Given the description of an element on the screen output the (x, y) to click on. 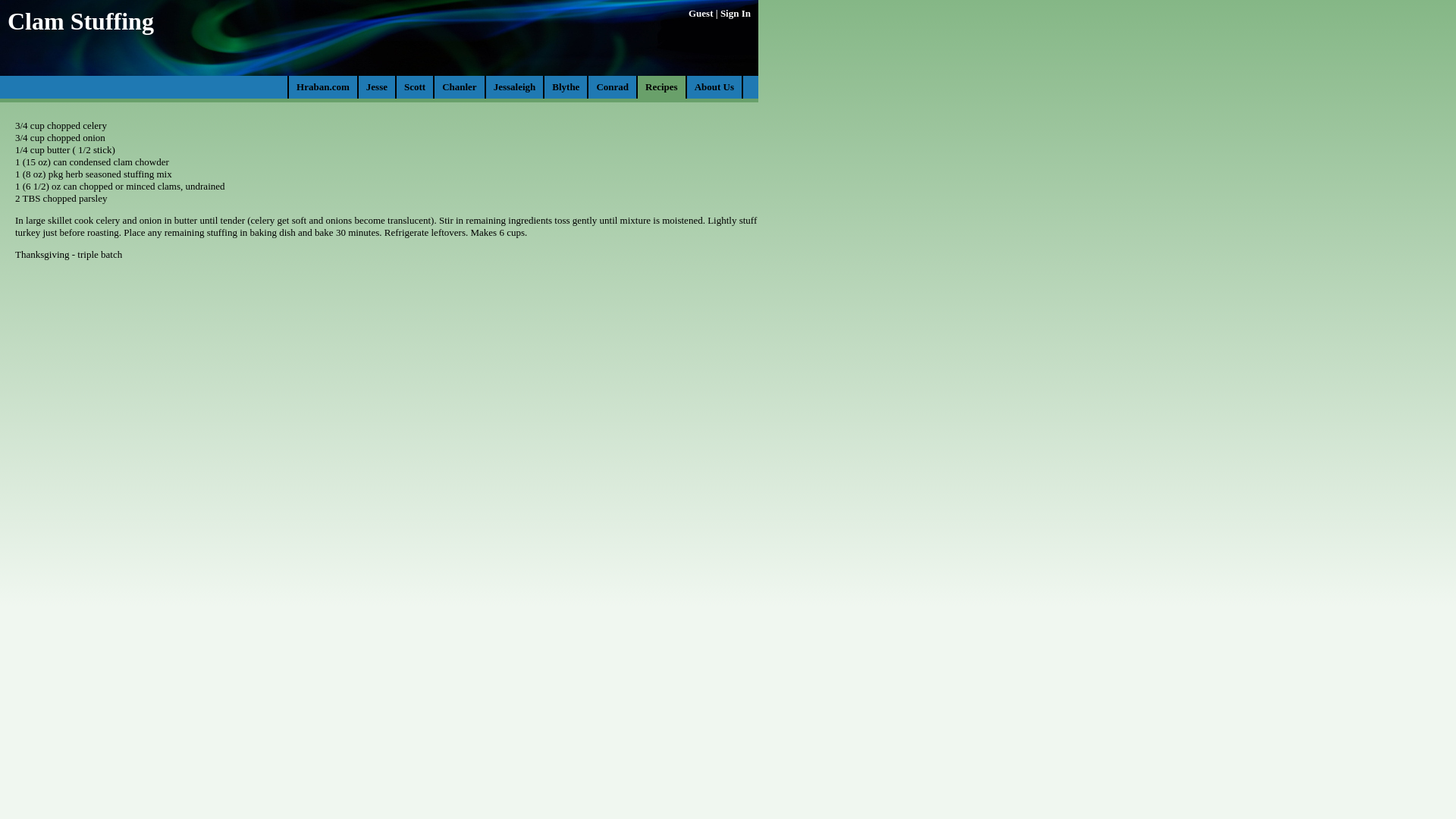
Recipes (661, 86)
Hraban.com (323, 86)
Scott (414, 86)
Jessaleigh (514, 86)
Blythe (565, 86)
Sign In (735, 12)
Jesse (376, 86)
About Us (713, 86)
Chanler (459, 86)
Conrad (611, 86)
